Given the description of an element on the screen output the (x, y) to click on. 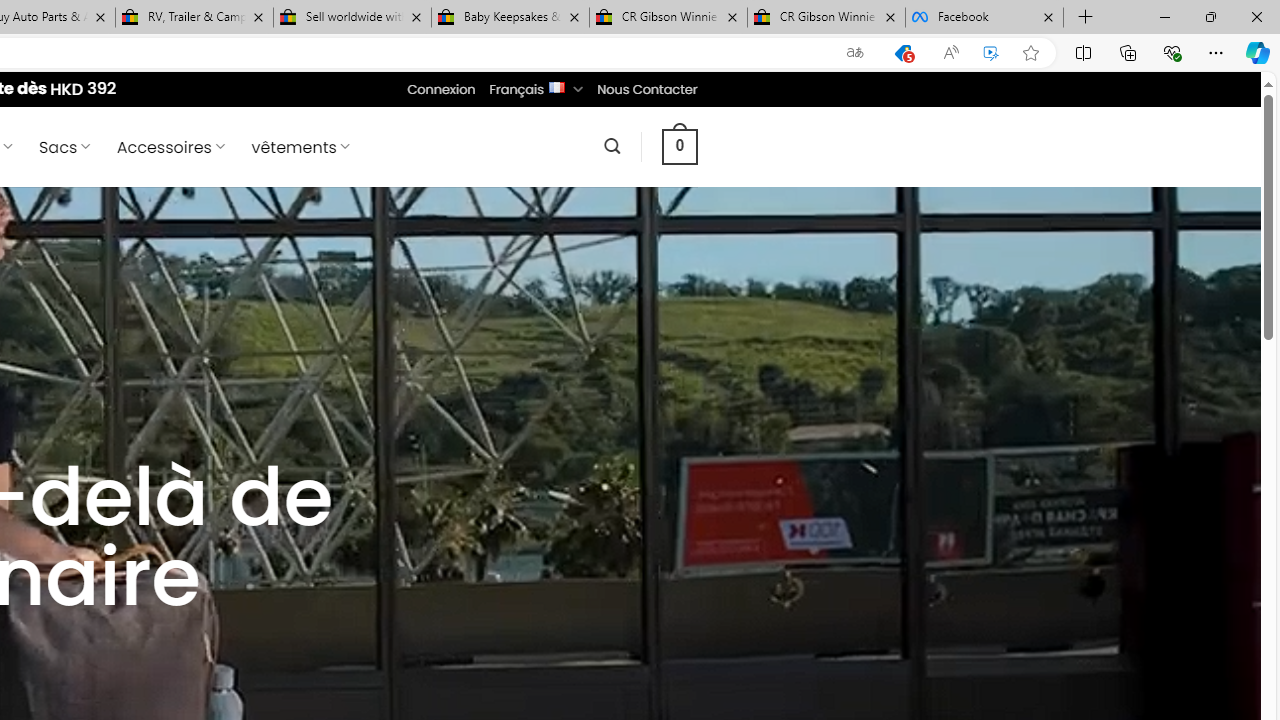
Nous Contacter (646, 89)
Enhance video (991, 53)
